Given the description of an element on the screen output the (x, y) to click on. 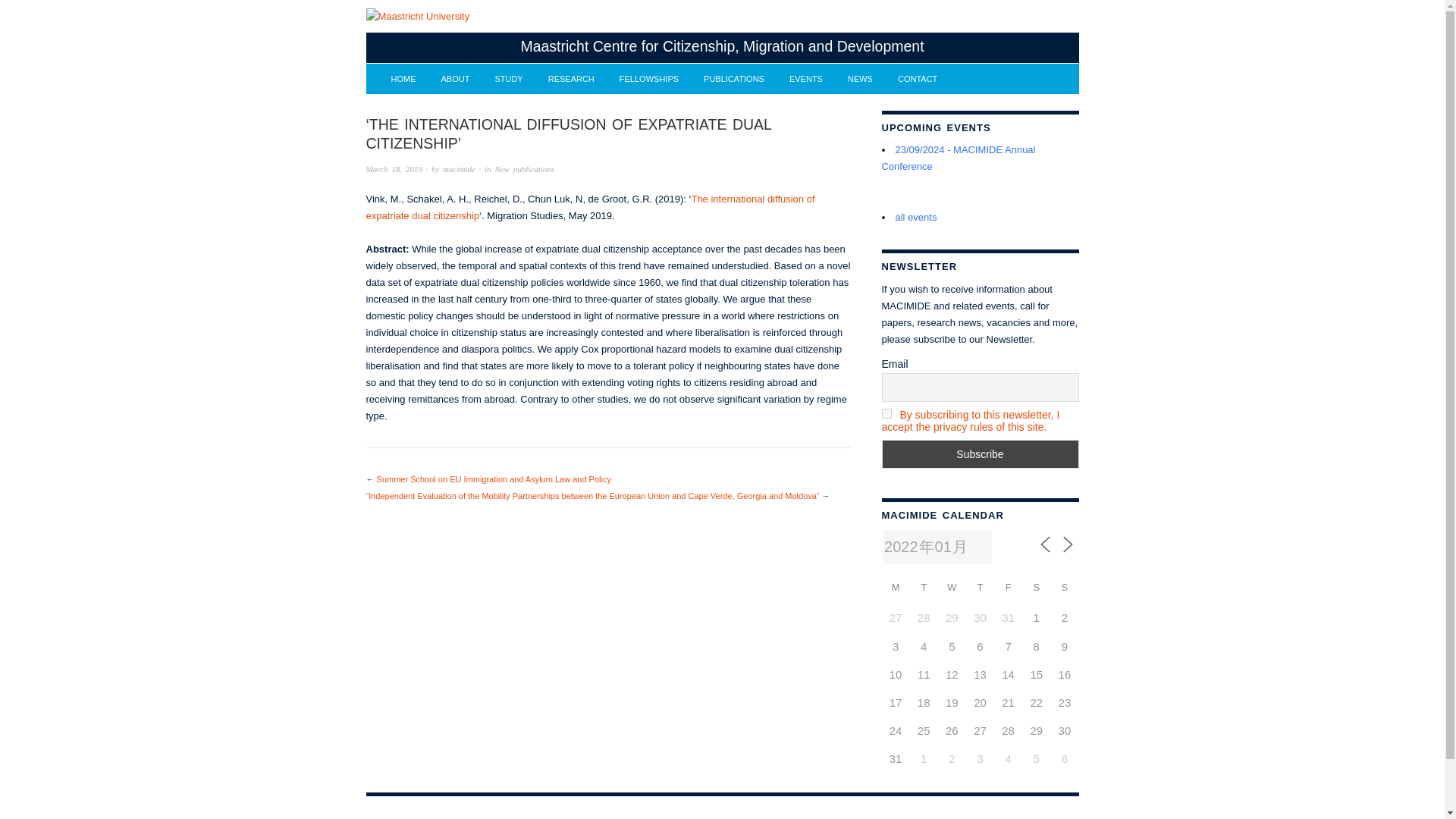
FELLOWSHIPS (649, 79)
NEWS (859, 79)
PUBLICATIONS (733, 79)
CONTACT (917, 79)
all events (915, 216)
2022-01 (937, 546)
Summer School on EU Immigration and Asylum Law and Policy (494, 479)
macimide (459, 168)
March 18, 2019 (393, 168)
RESEARCH (571, 79)
The international diffusion of expatriate dual citizenship (589, 207)
Maastricht University (416, 16)
Posts by macimide (459, 168)
HOME (403, 79)
on (885, 413)
